Given the description of an element on the screen output the (x, y) to click on. 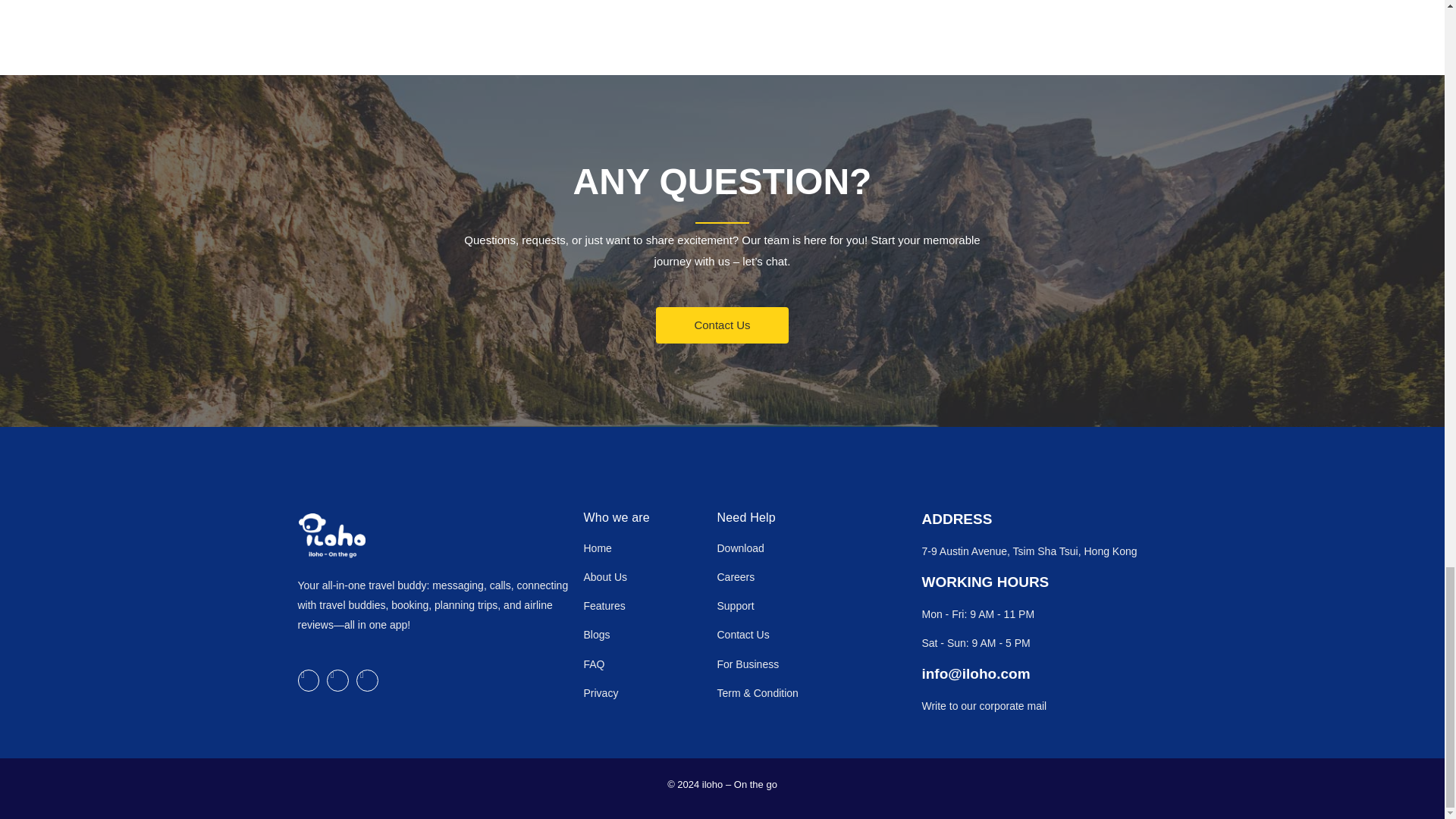
Contact Us (722, 325)
